Given the description of an element on the screen output the (x, y) to click on. 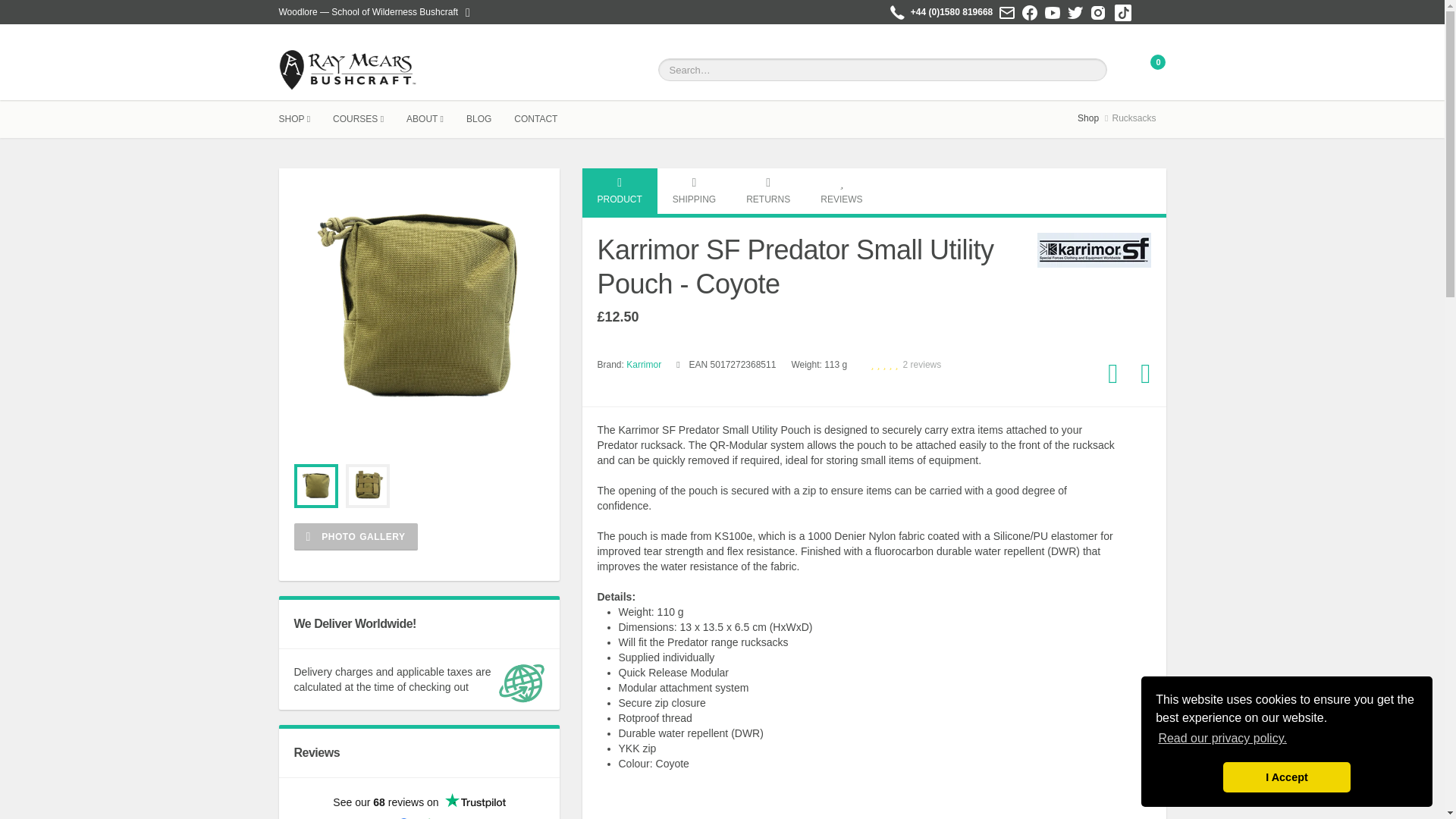
0 (1150, 69)
SHOP (306, 118)
Instagram (1097, 13)
Basket (1150, 69)
YouTube (1052, 13)
Instagram (1097, 11)
TikTok (1123, 11)
Twitter (1075, 11)
Youtube (1052, 11)
I Accept (1286, 777)
Telephone (895, 13)
TikTok (1123, 12)
Facebook (1029, 11)
Facebook (1029, 13)
Read our privacy policy. (1222, 738)
